Given the description of an element on the screen output the (x, y) to click on. 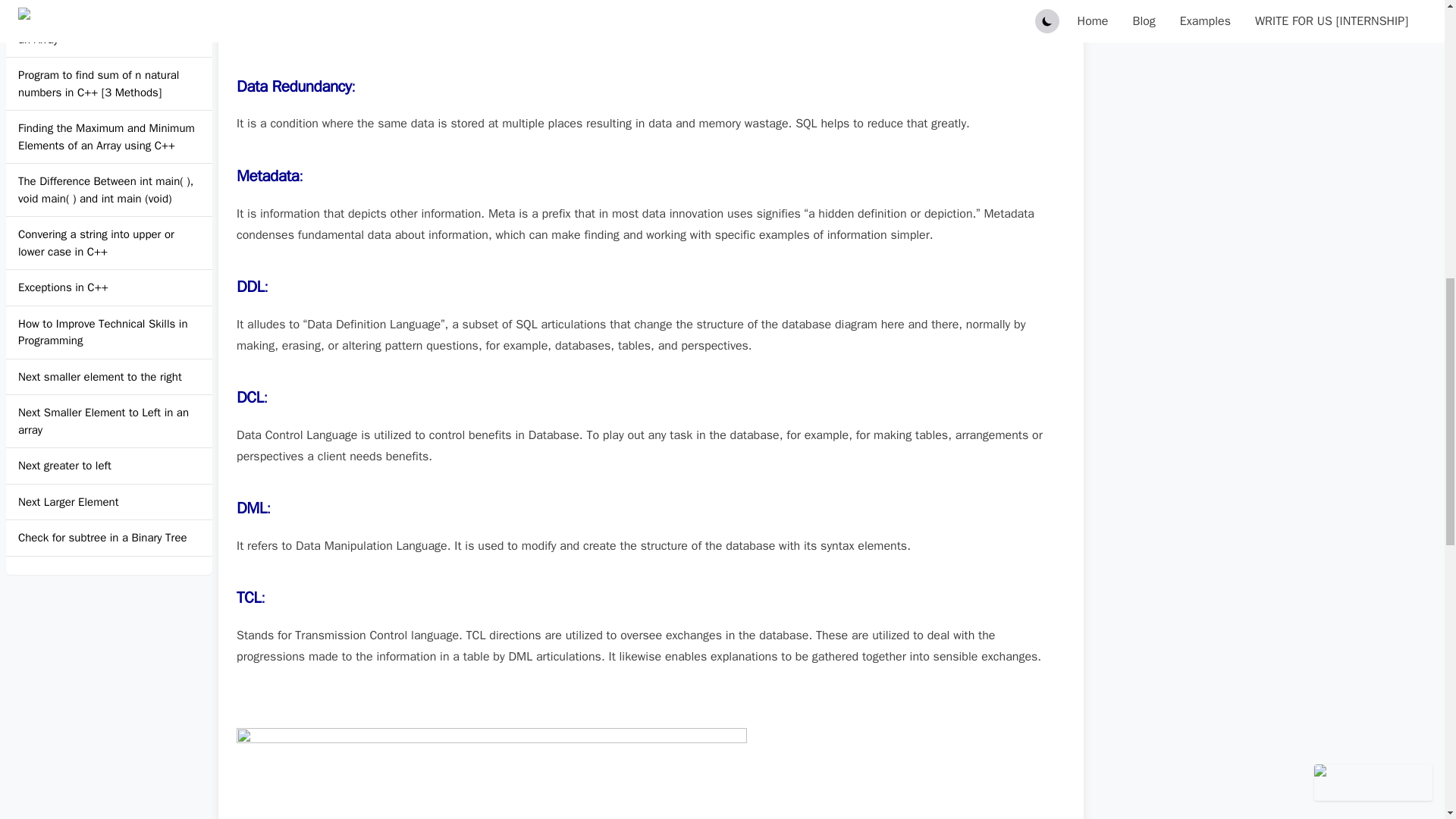
Next Larger Element (68, 501)
Next greater to left (64, 466)
Check for subtree in a Binary Tree (102, 538)
Next smaller element to the right (99, 376)
Next Smaller Element to Left in an array (108, 421)
How to Improve Technical Skills in Programming (108, 332)
Find The Most Frequent Element in an Array (108, 30)
